Given the description of an element on the screen output the (x, y) to click on. 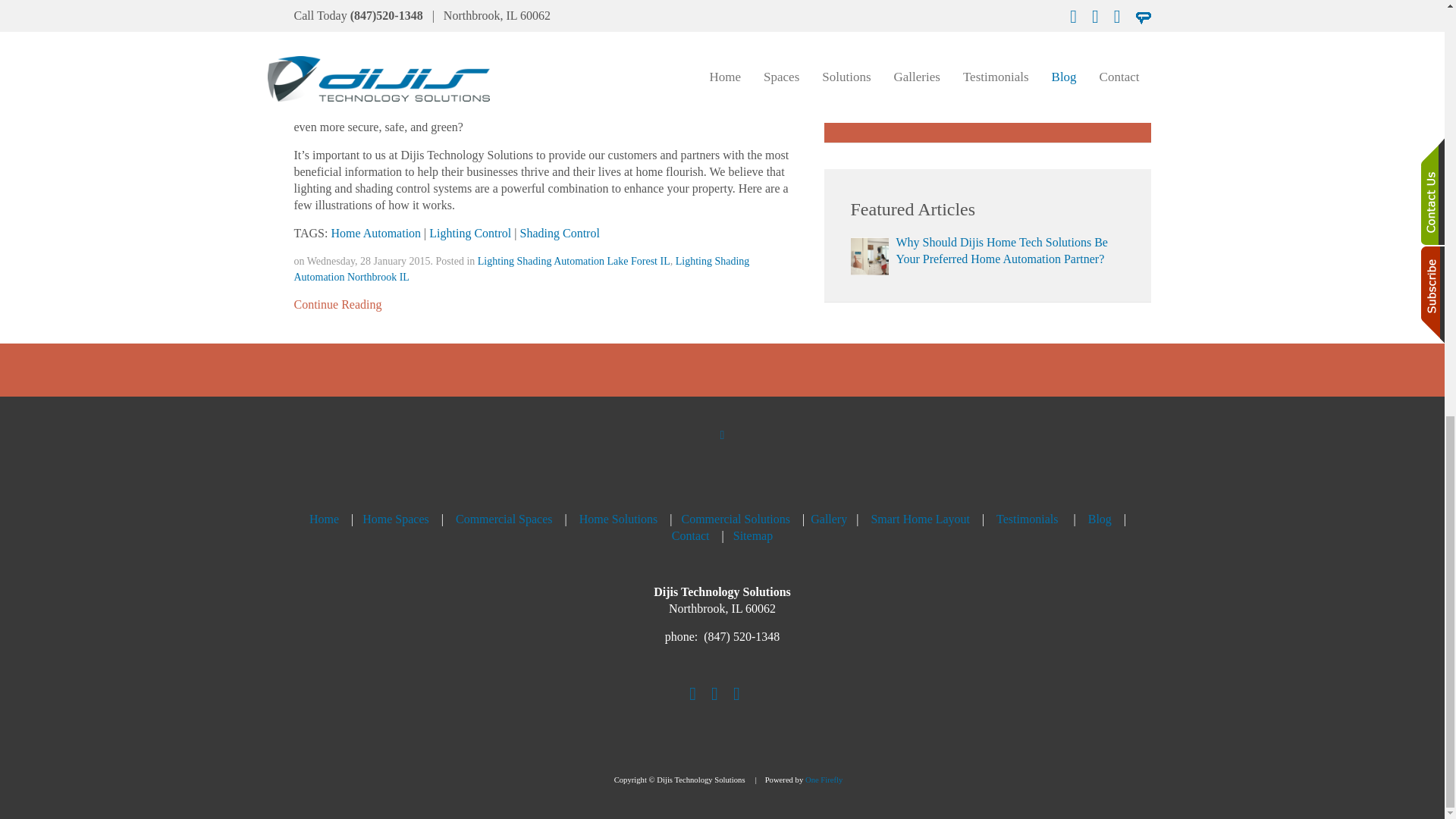
Lighting Control (470, 232)
Lighting Shading Automation Northbrook IL (521, 268)
Lighting Shading Automation Lake Forest IL (573, 260)
lighting and shading automation (484, 110)
Continue Reading (337, 304)
Home Automation (375, 232)
Shading Control (559, 232)
